Given the description of an element on the screen output the (x, y) to click on. 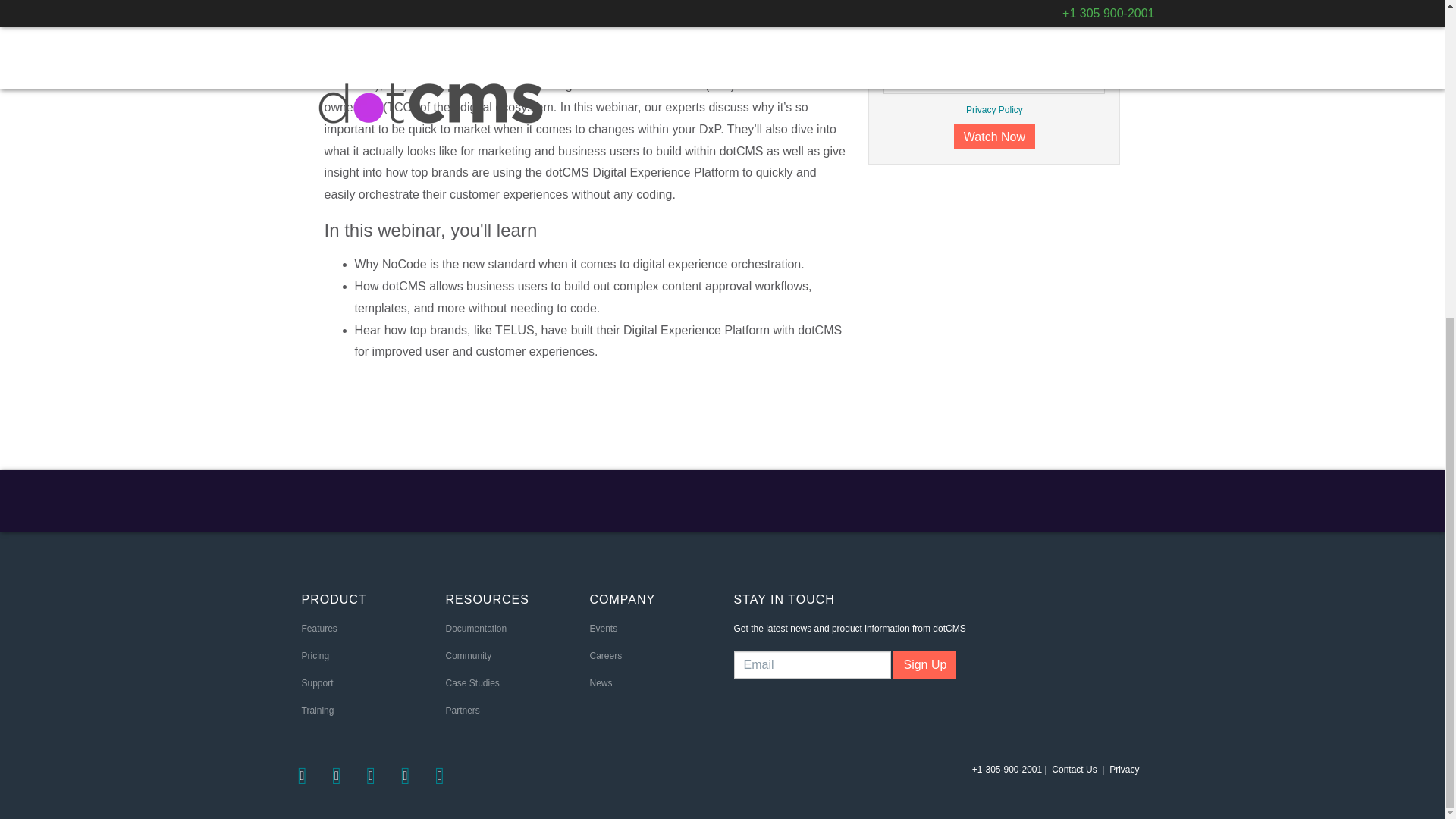
Sign Up (924, 664)
Events (603, 628)
Training (317, 709)
Careers (606, 655)
Watch Now (994, 136)
Privacy Policy (994, 109)
Documentation (475, 628)
Pricing (315, 655)
Watch Now (994, 136)
Support (317, 682)
